Given the description of an element on the screen output the (x, y) to click on. 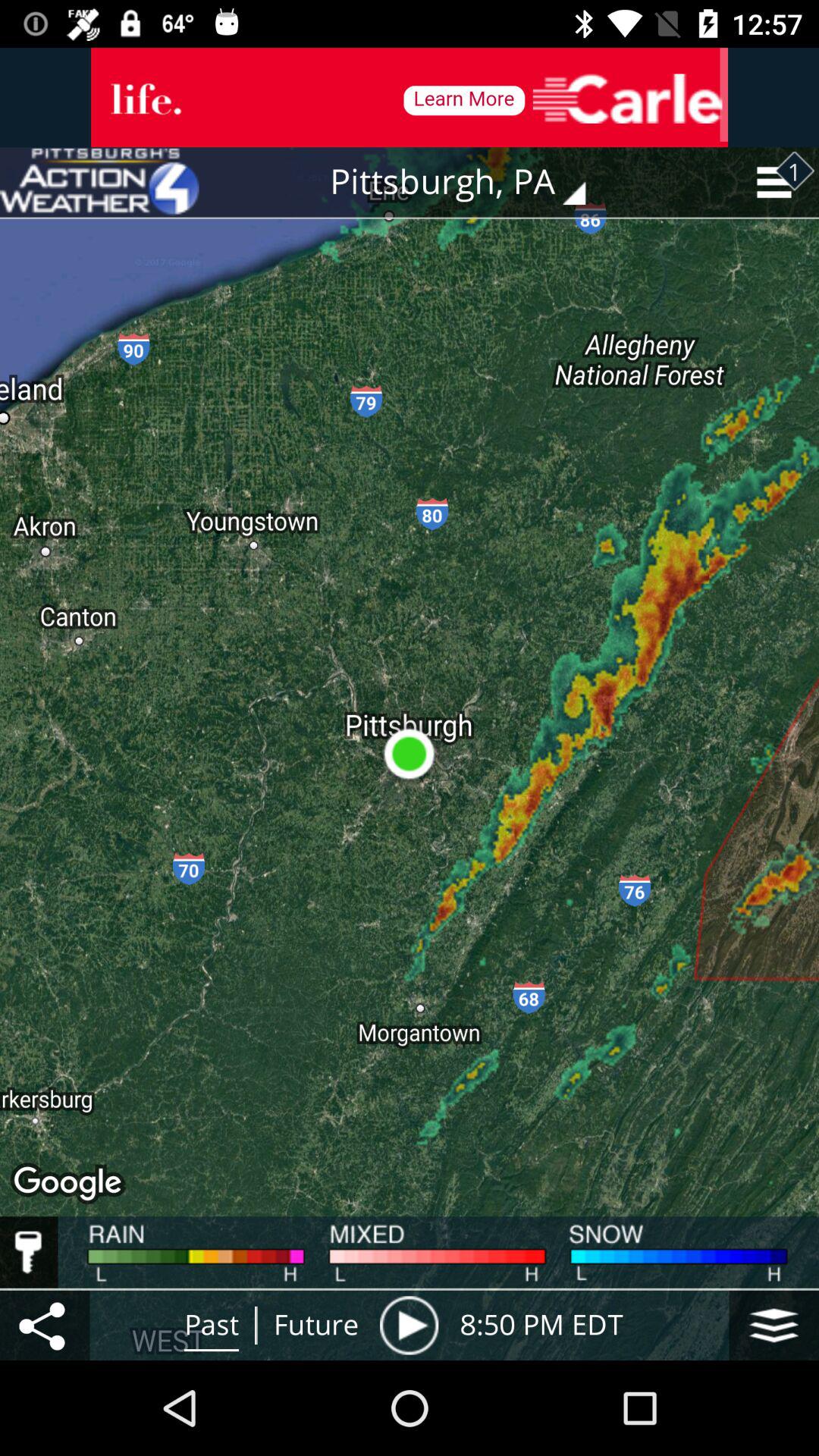
enable the key option (29, 1252)
